Given the description of an element on the screen output the (x, y) to click on. 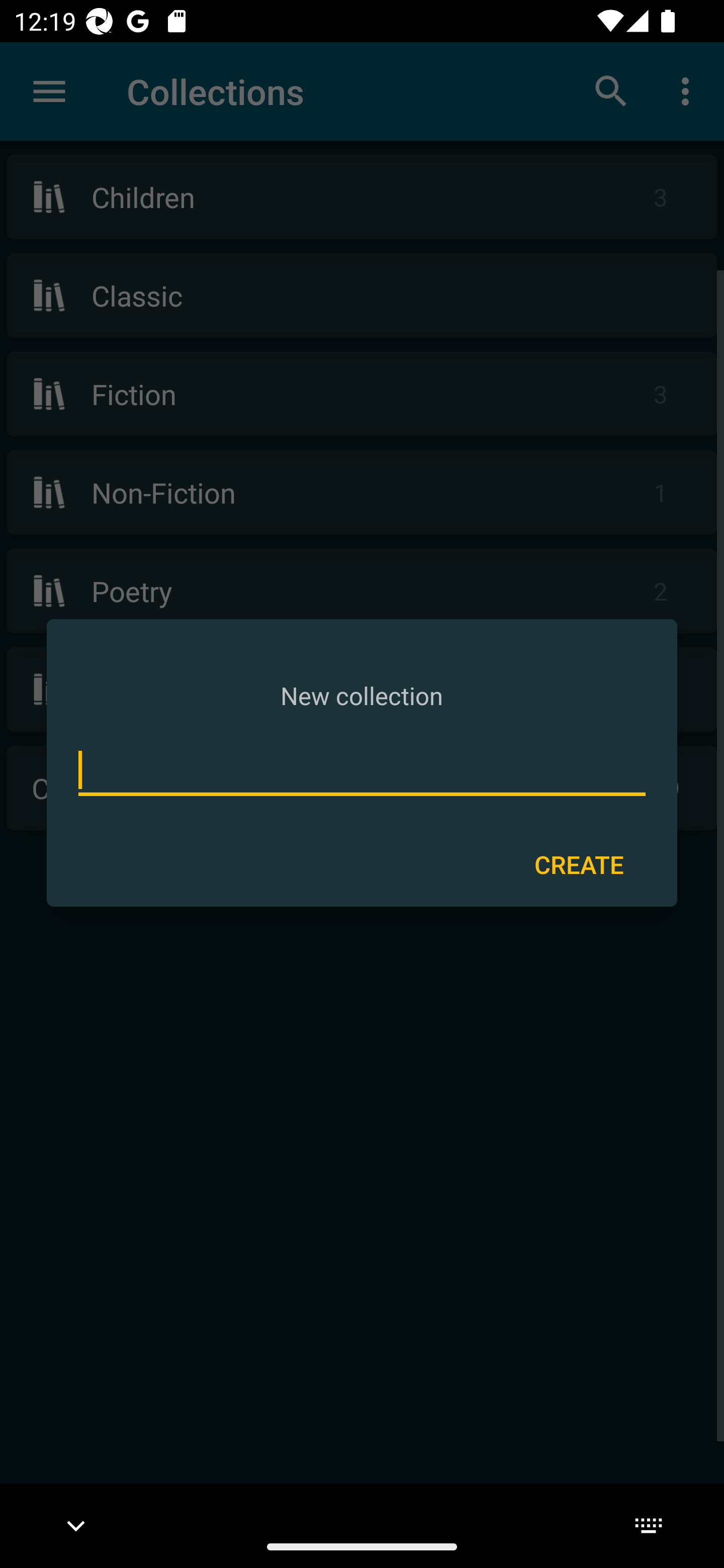
CREATE (578, 863)
